Given the description of an element on the screen output the (x, y) to click on. 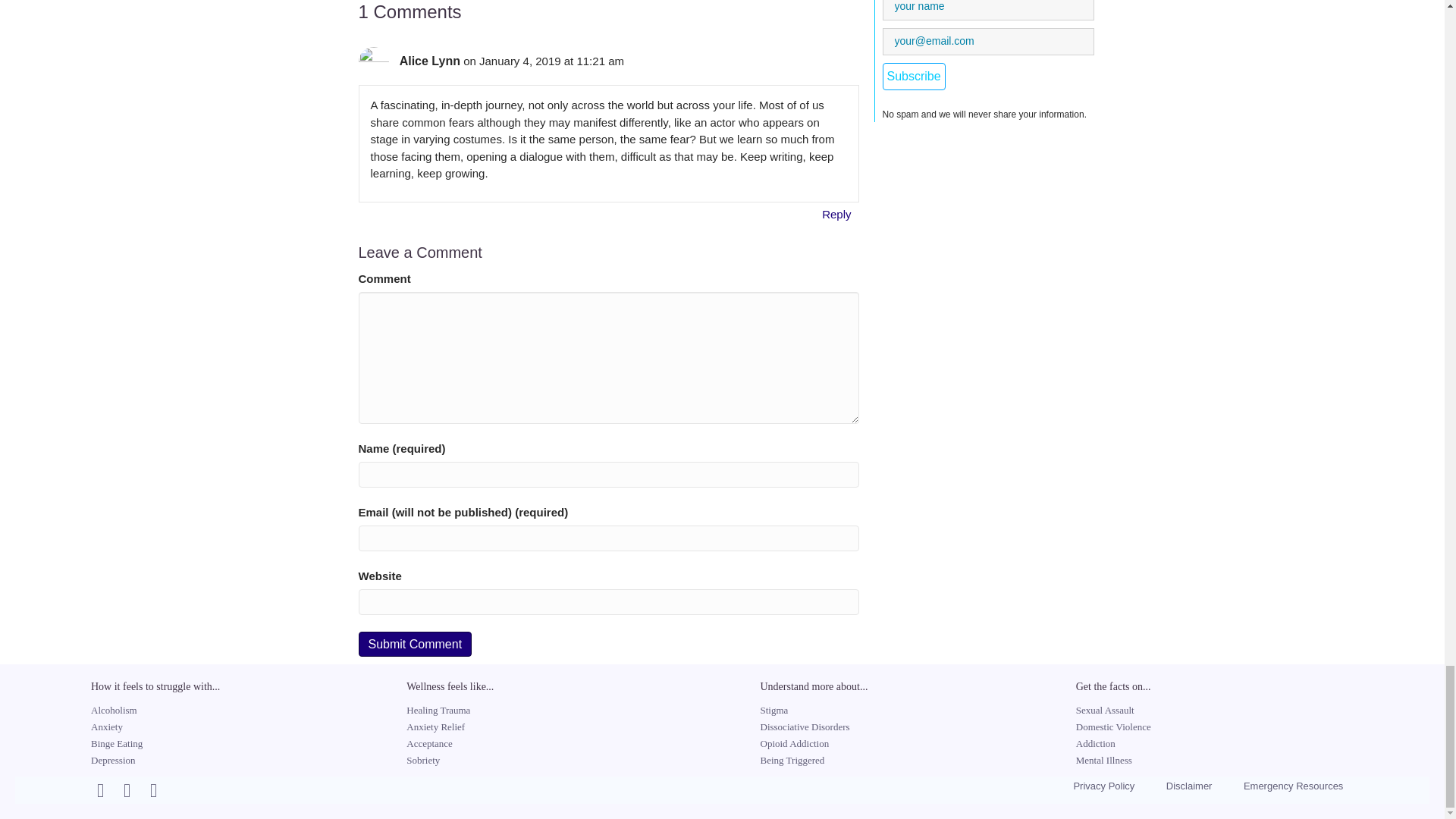
Submit Comment (414, 643)
